Given the description of an element on the screen output the (x, y) to click on. 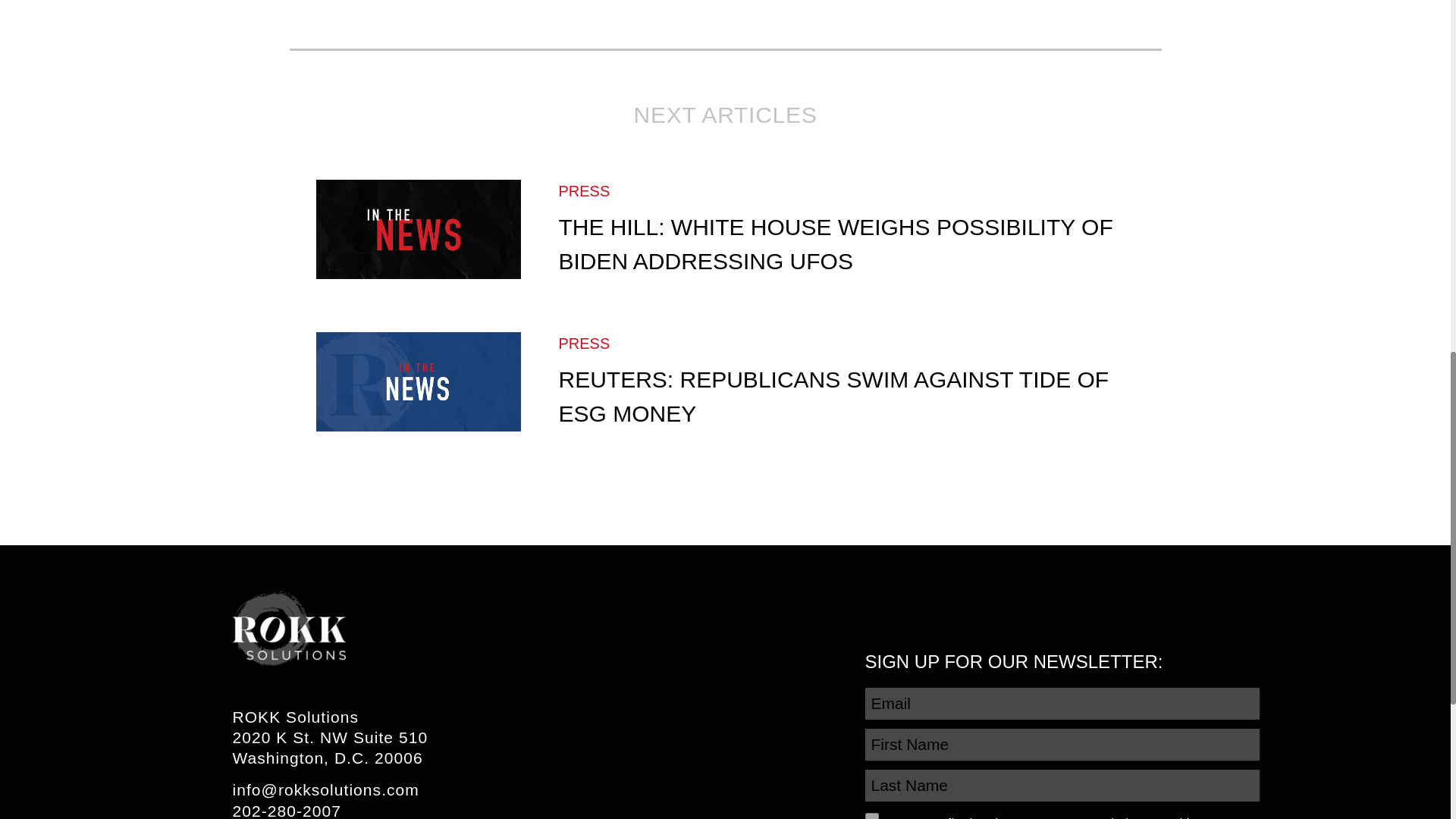
REUTERS: REPUBLICANS SWIM AGAINST TIDE OF ESG MONEY (832, 395)
202-280-2007 (285, 810)
